Given the description of an element on the screen output the (x, y) to click on. 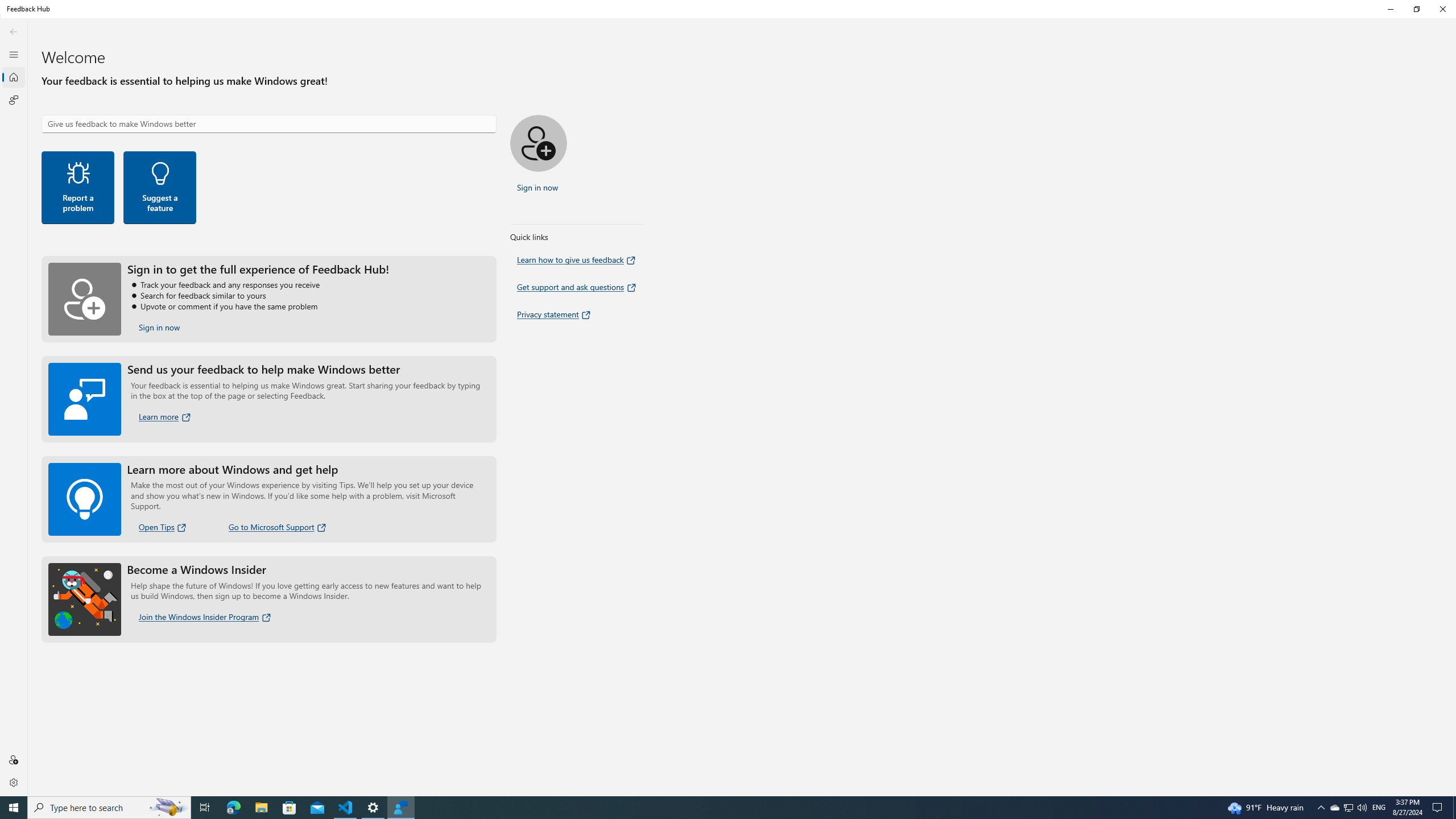
Vertical Large Increase (1452, 406)
